Given the description of an element on the screen output the (x, y) to click on. 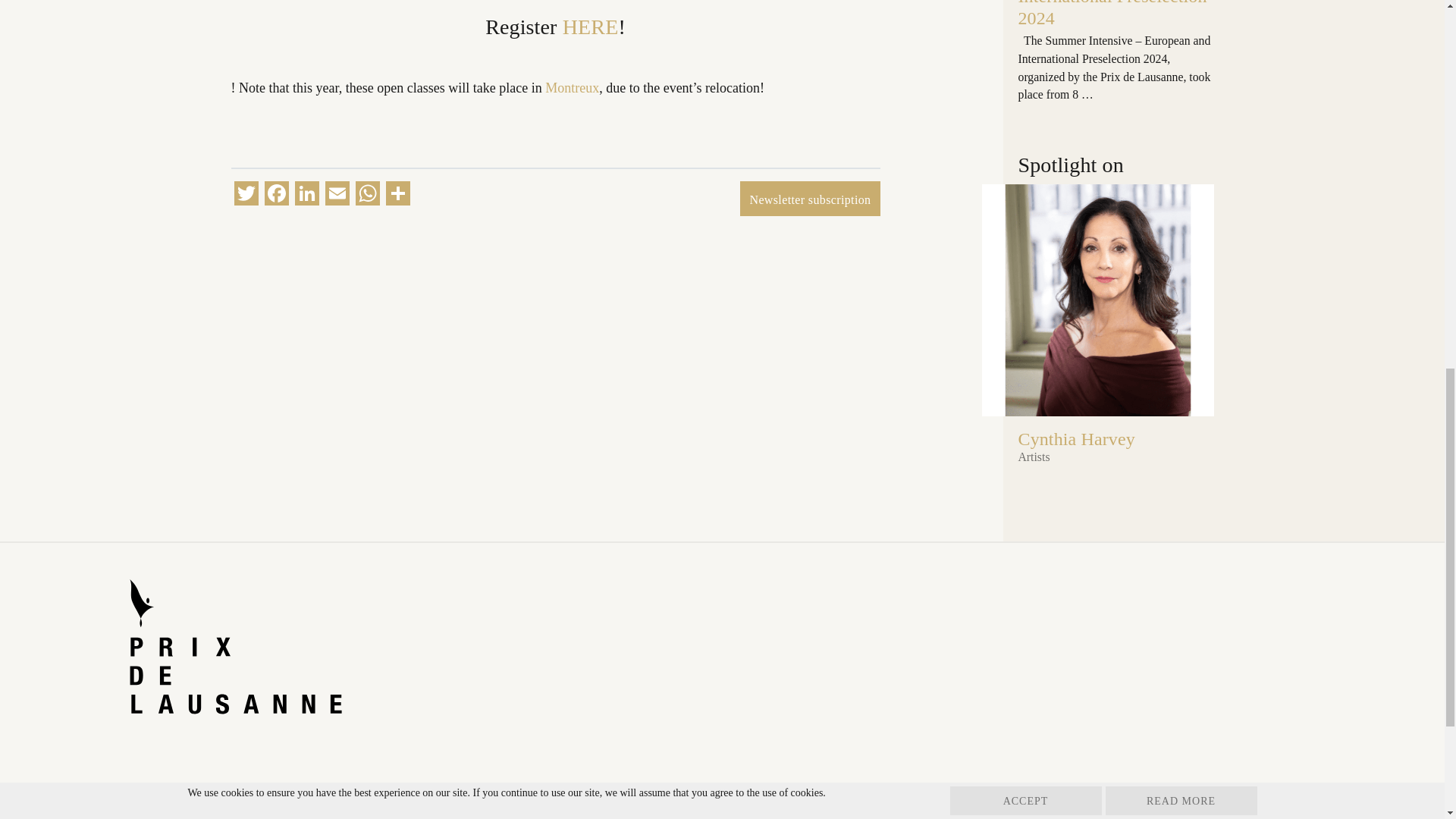
Email (336, 194)
Twitter (245, 194)
WhatsApp (366, 194)
Facebook (275, 194)
LinkedIn (306, 194)
